Given the description of an element on the screen output the (x, y) to click on. 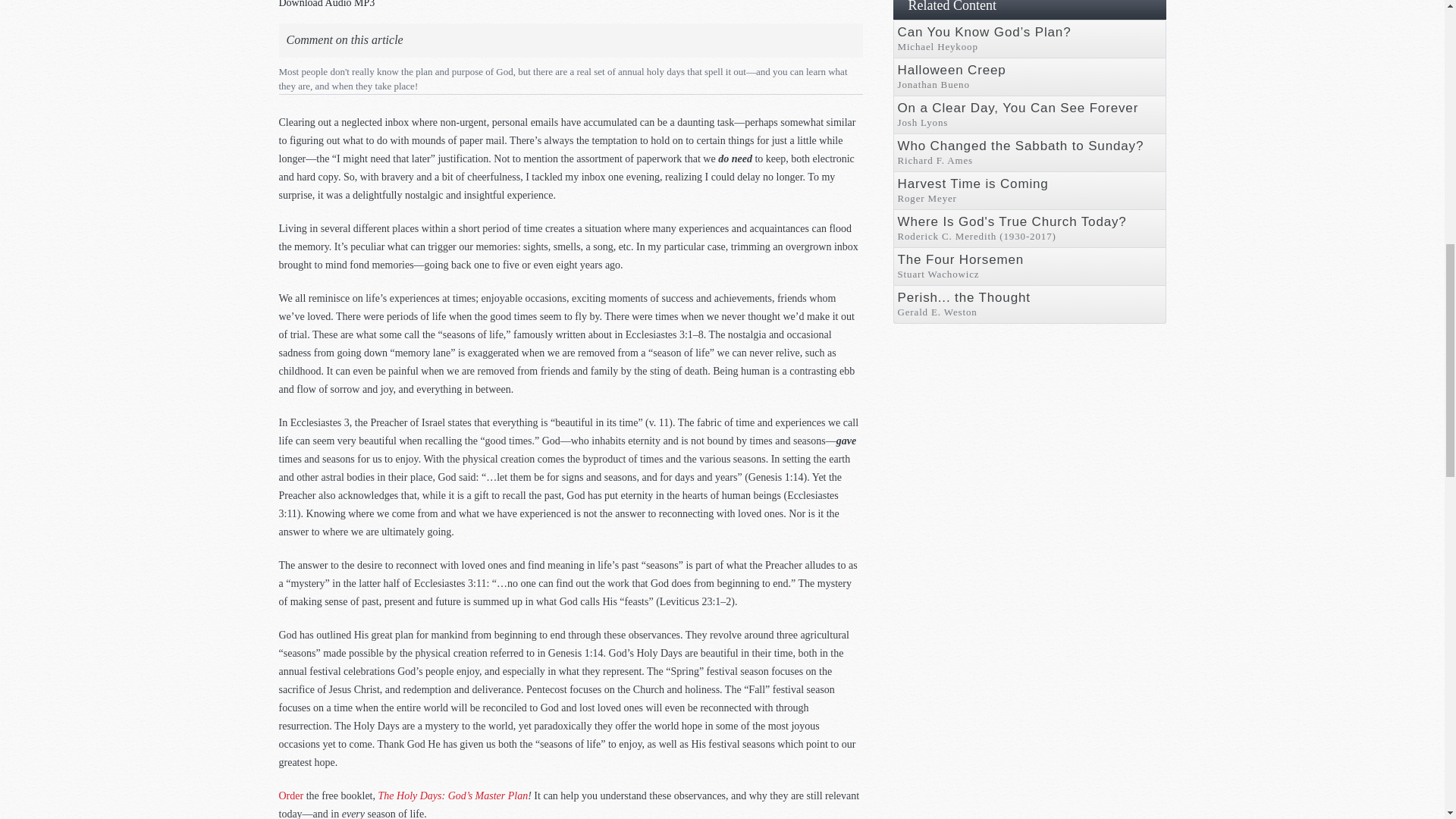
Download Audio MP3 (327, 4)
Comment on this article (344, 36)
Order (291, 795)
